Given the description of an element on the screen output the (x, y) to click on. 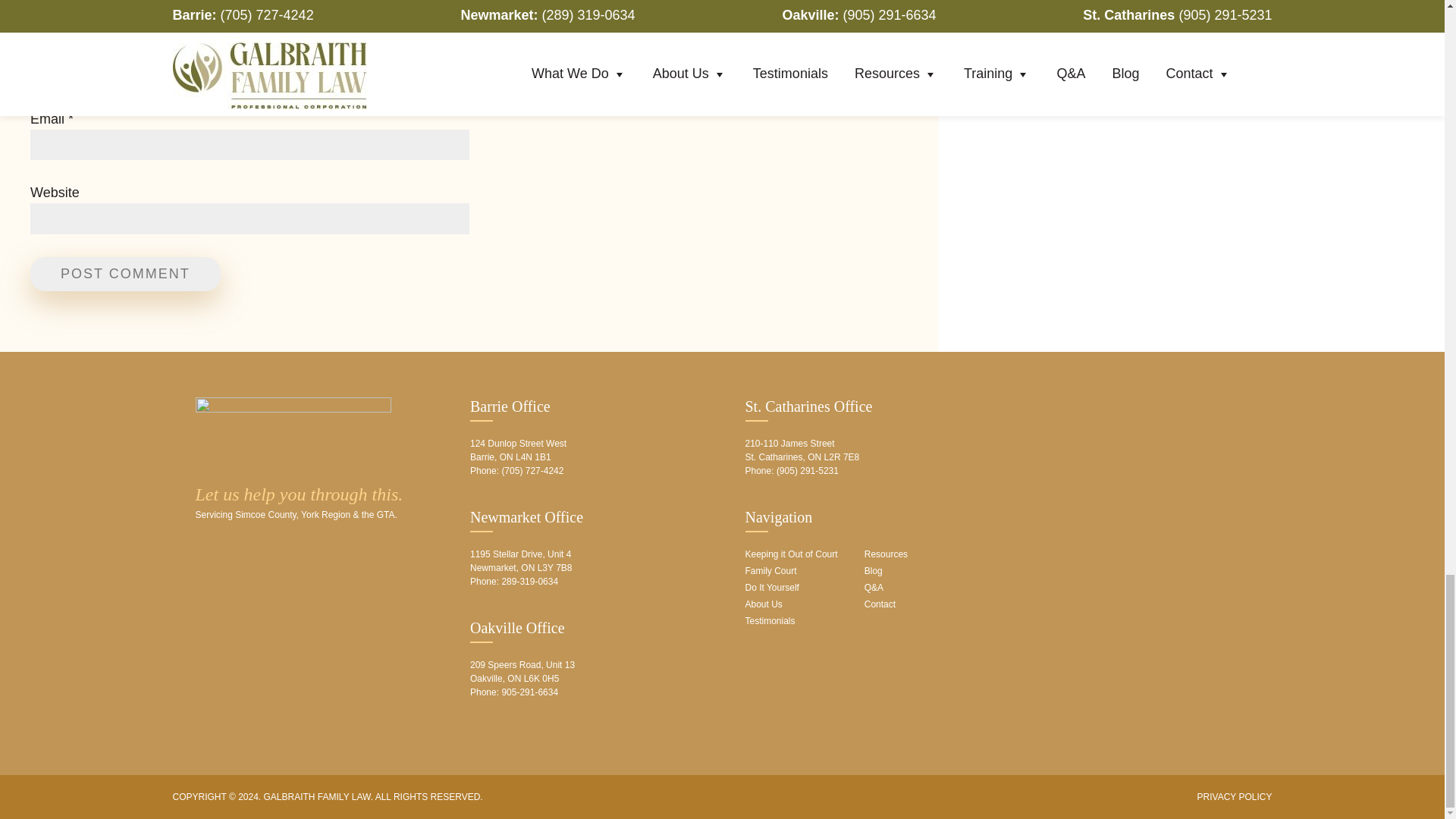
Post Comment (125, 274)
